Given the description of an element on the screen output the (x, y) to click on. 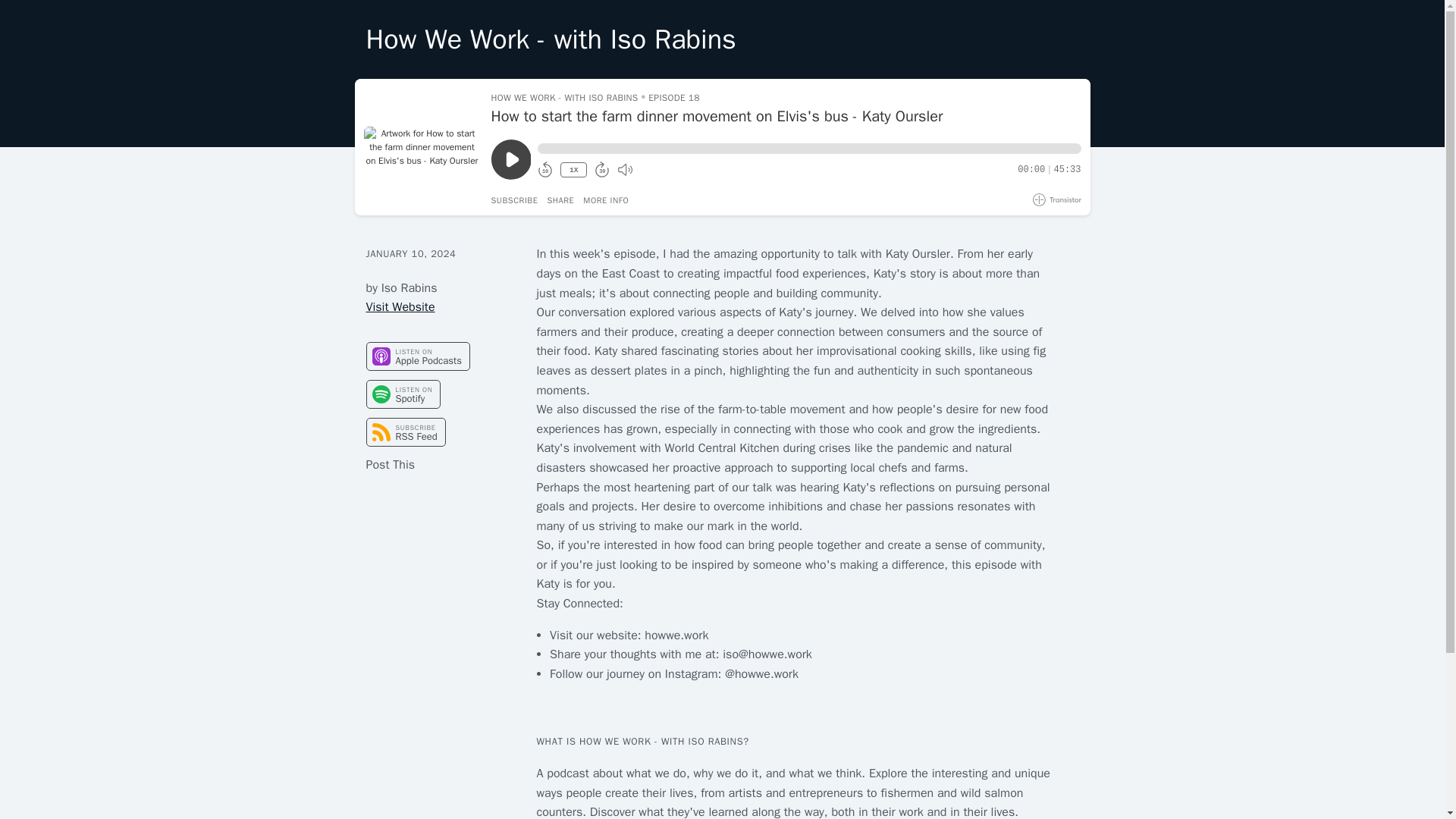
SUBSCRIBE (515, 200)
Rewind 10 seconds (545, 170)
MORE INFO (605, 200)
Play (511, 159)
30 (602, 170)
1X (573, 169)
10 (545, 170)
SHARE (560, 200)
Show sharing options (560, 200)
Fast Forward 30 seconds (602, 170)
Visit Transistor.fm - Podcast Hosting and Analytics (1056, 199)
Show subscribe options (515, 200)
Seek within Episode (808, 148)
Show episode details (605, 200)
